Given the description of an element on the screen output the (x, y) to click on. 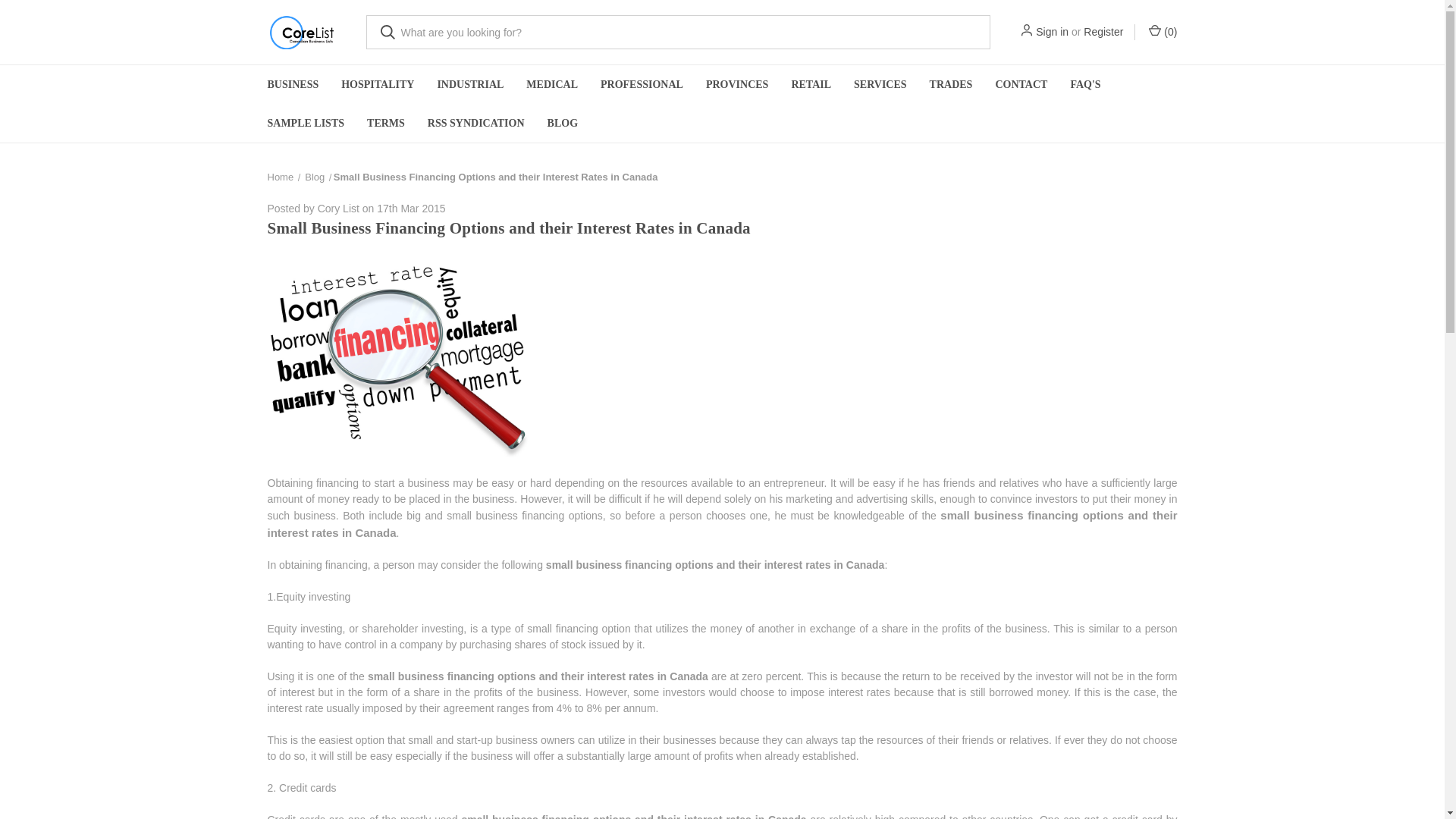
RSS SYNDICATION (475, 123)
TRADES (951, 84)
TERMS (385, 123)
INDUSTRIAL (470, 84)
SAMPLE LISTS (306, 123)
PROFESSIONAL (641, 84)
SERVICES (880, 84)
Blog (314, 176)
BUSINESS (293, 84)
Core List Canada (300, 32)
